Given the description of an element on the screen output the (x, y) to click on. 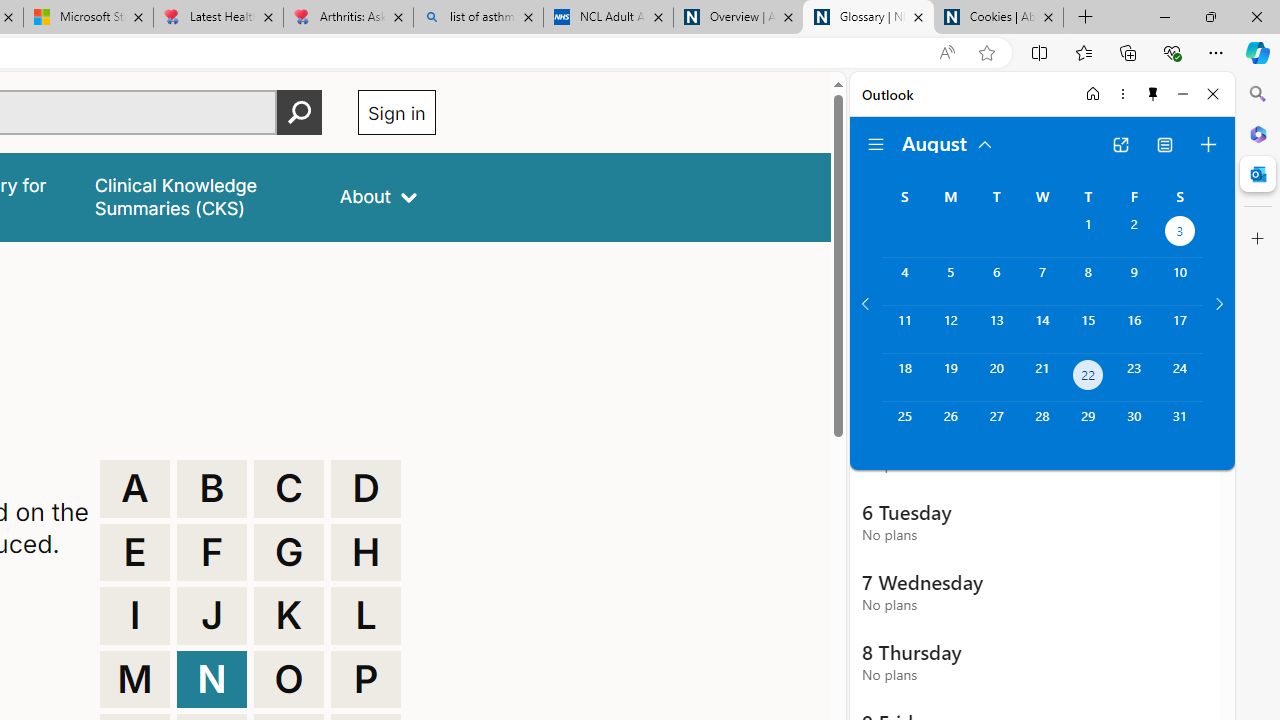
Thursday, August 22, 2024. Today.  (1088, 377)
Browser essentials (1171, 52)
Microsoft Start (88, 17)
Monday, August 5, 2024.  (950, 281)
Tuesday, August 6, 2024.  (996, 281)
Monday, August 12, 2024.  (950, 329)
About (378, 196)
Sign in (396, 112)
B (212, 488)
Search (1258, 94)
A (134, 488)
N (212, 679)
Sunday, August 18, 2024.  (904, 377)
Read aloud this page (Ctrl+Shift+U) (946, 53)
J (212, 615)
